Given the description of an element on the screen output the (x, y) to click on. 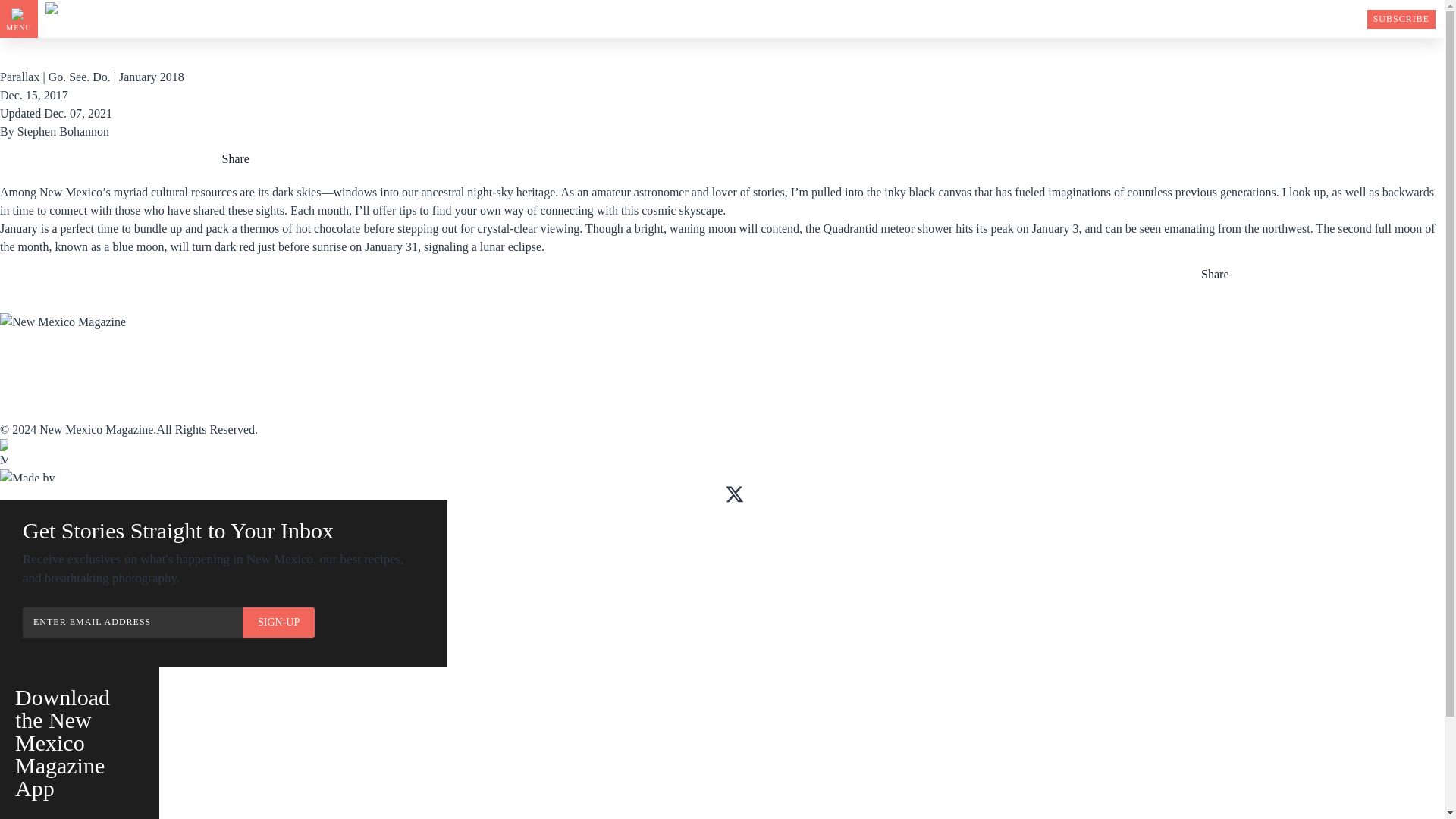
Archive (313, 360)
MENU (18, 18)
Visit our Twitter page (734, 494)
App (154, 360)
Sitemap (312, 394)
Store (598, 360)
Advertise (464, 360)
About Us (25, 394)
Contact Us (32, 410)
Subscribe (28, 360)
Privacy Policy (333, 410)
